Given the description of an element on the screen output the (x, y) to click on. 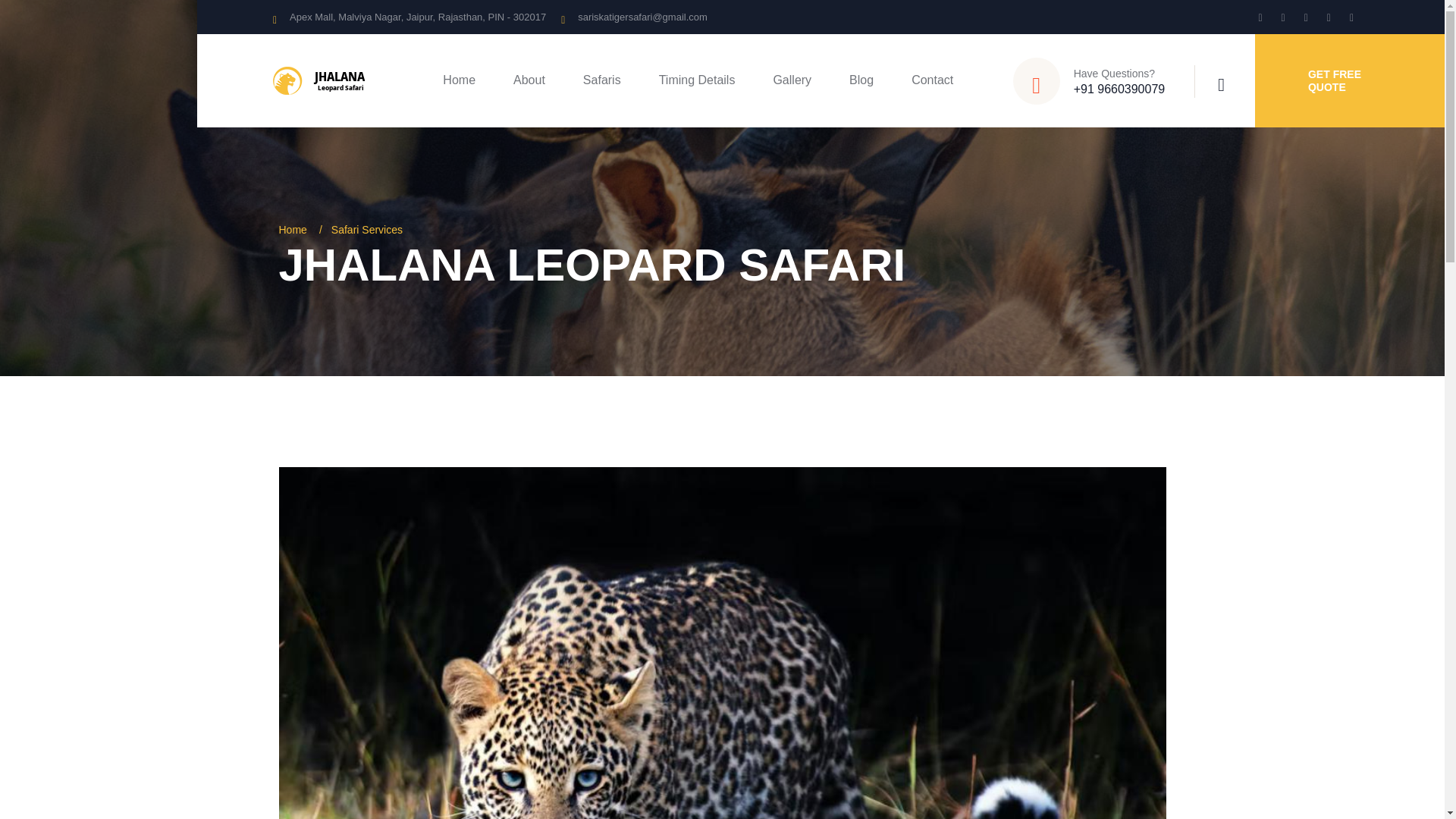
About (528, 79)
Timing Details (697, 79)
Contact (932, 79)
Blog (860, 79)
Gallery (791, 79)
Home (459, 79)
Safaris (602, 79)
